Given the description of an element on the screen output the (x, y) to click on. 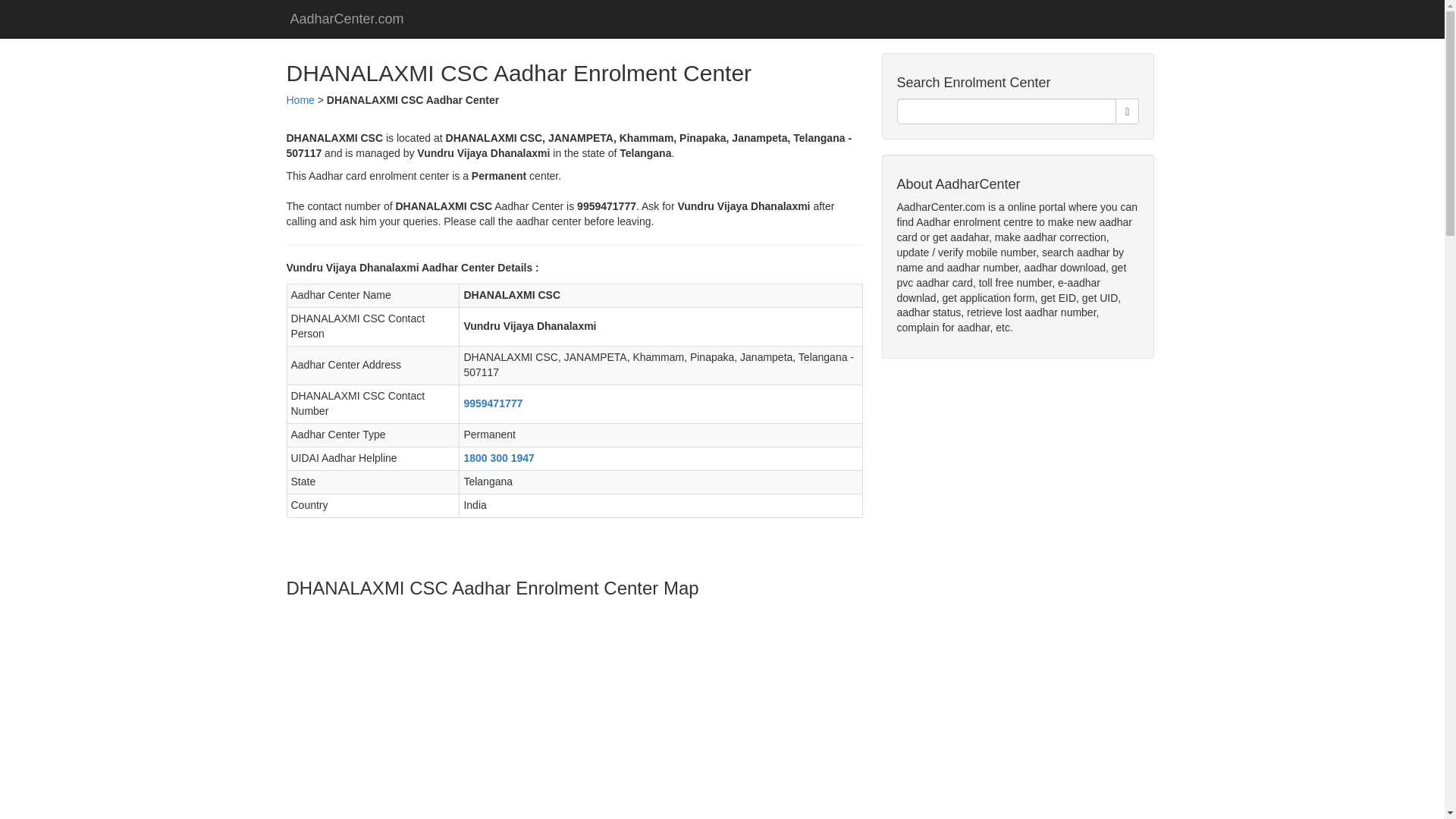
Home (300, 100)
9959471777 (492, 403)
AadharCenter.com (346, 18)
1800 300 1947 (498, 458)
